Given the description of an element on the screen output the (x, y) to click on. 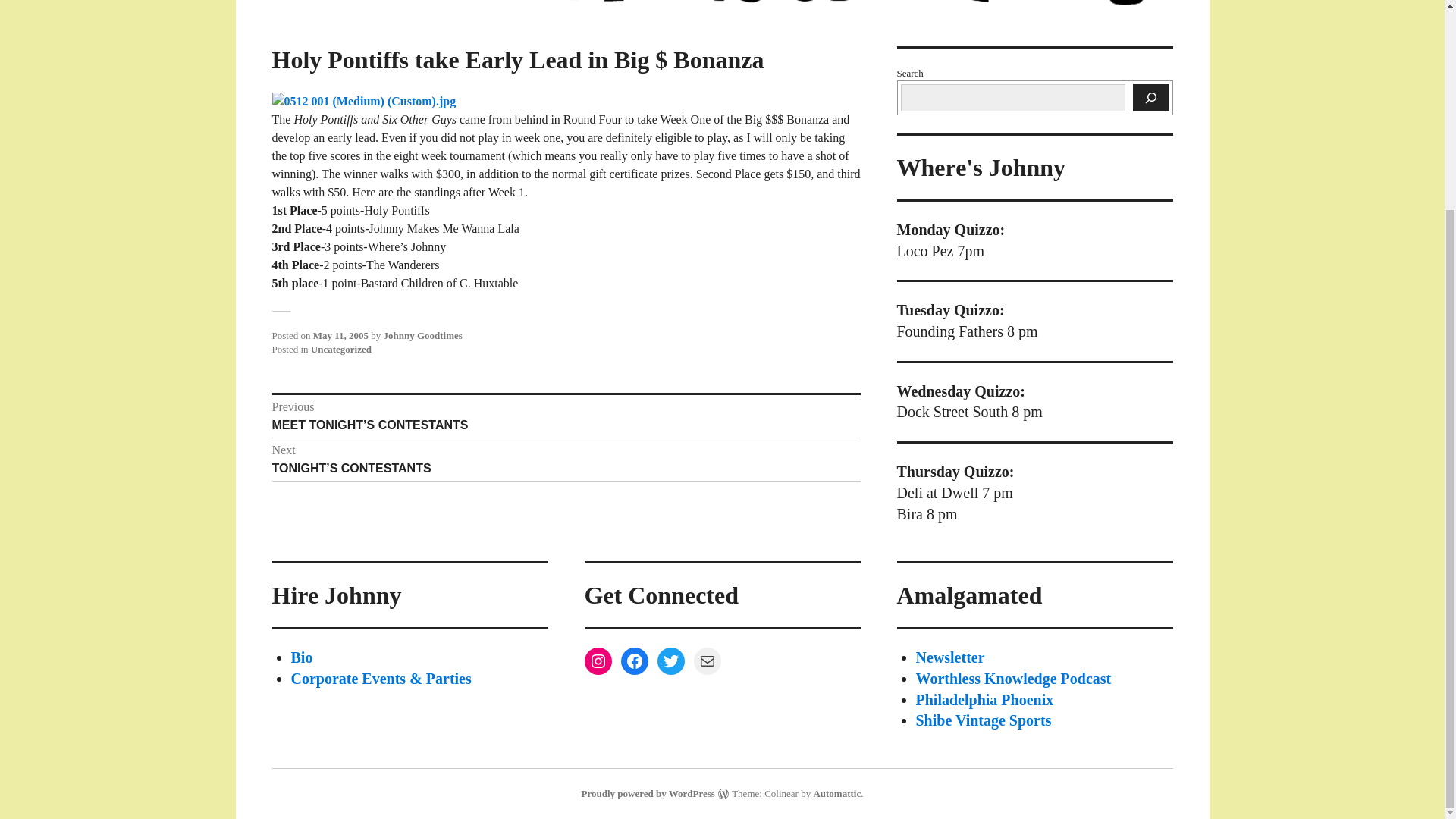
Facebook (633, 660)
Twitter (670, 660)
Uncategorized (341, 348)
Proudly powered by WordPress (647, 793)
Automattic (836, 793)
Johnny Goodtimes (421, 335)
Newsletter (950, 657)
Shibe Vintage Sports (983, 719)
Bio (302, 657)
May 11, 2005 (340, 335)
Philadelphia Phoenix (984, 699)
Worthless Knowledge Podcast (1013, 678)
Mail (706, 660)
Instagram (597, 660)
